Given the description of an element on the screen output the (x, y) to click on. 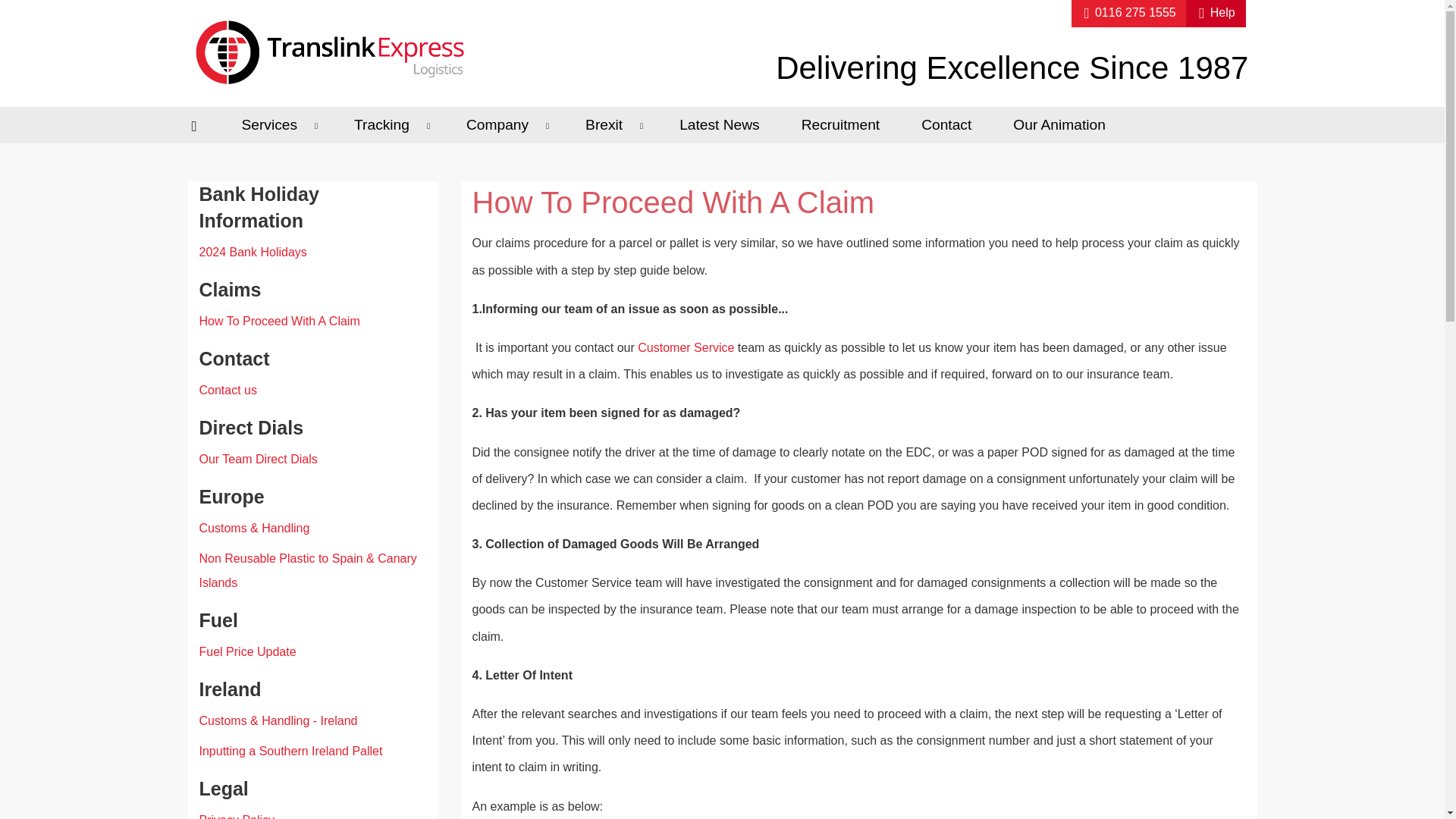
Brexit (616, 125)
Help (1216, 13)
0116 275 1555 (1128, 13)
Recruitment (845, 125)
2024 Bank Holidays (251, 251)
Contact us (227, 390)
Contact (951, 125)
Latest News (724, 125)
Our Animation (1064, 125)
How To Proceed With A Claim (278, 320)
